Given the description of an element on the screen output the (x, y) to click on. 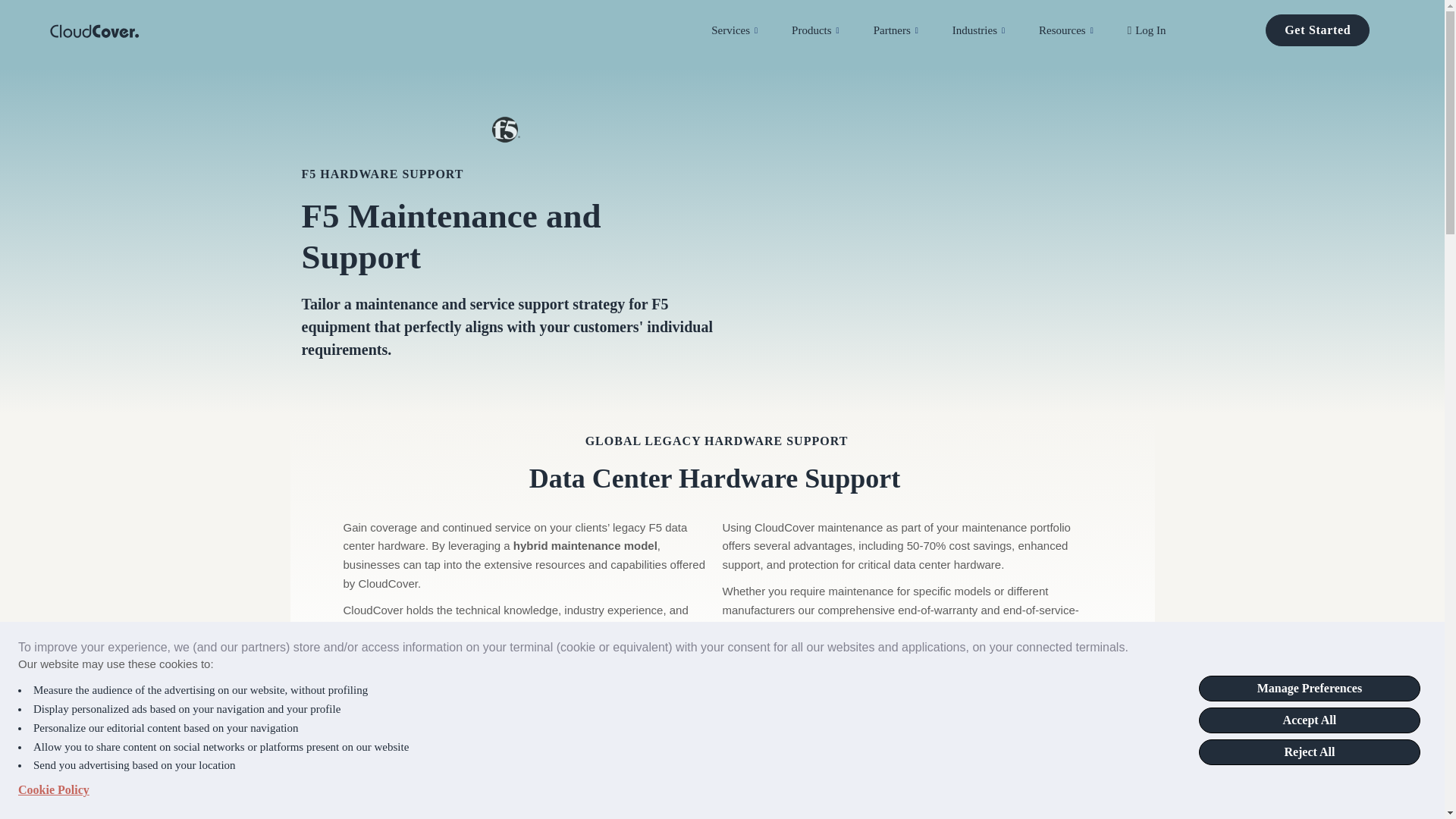
Partners (912, 30)
Manage Preferences (1309, 688)
Industries (995, 30)
Accept All (1309, 720)
Reject All (1309, 751)
Products (832, 30)
Cookie Policy (52, 789)
Services (751, 30)
